Given the description of an element on the screen output the (x, y) to click on. 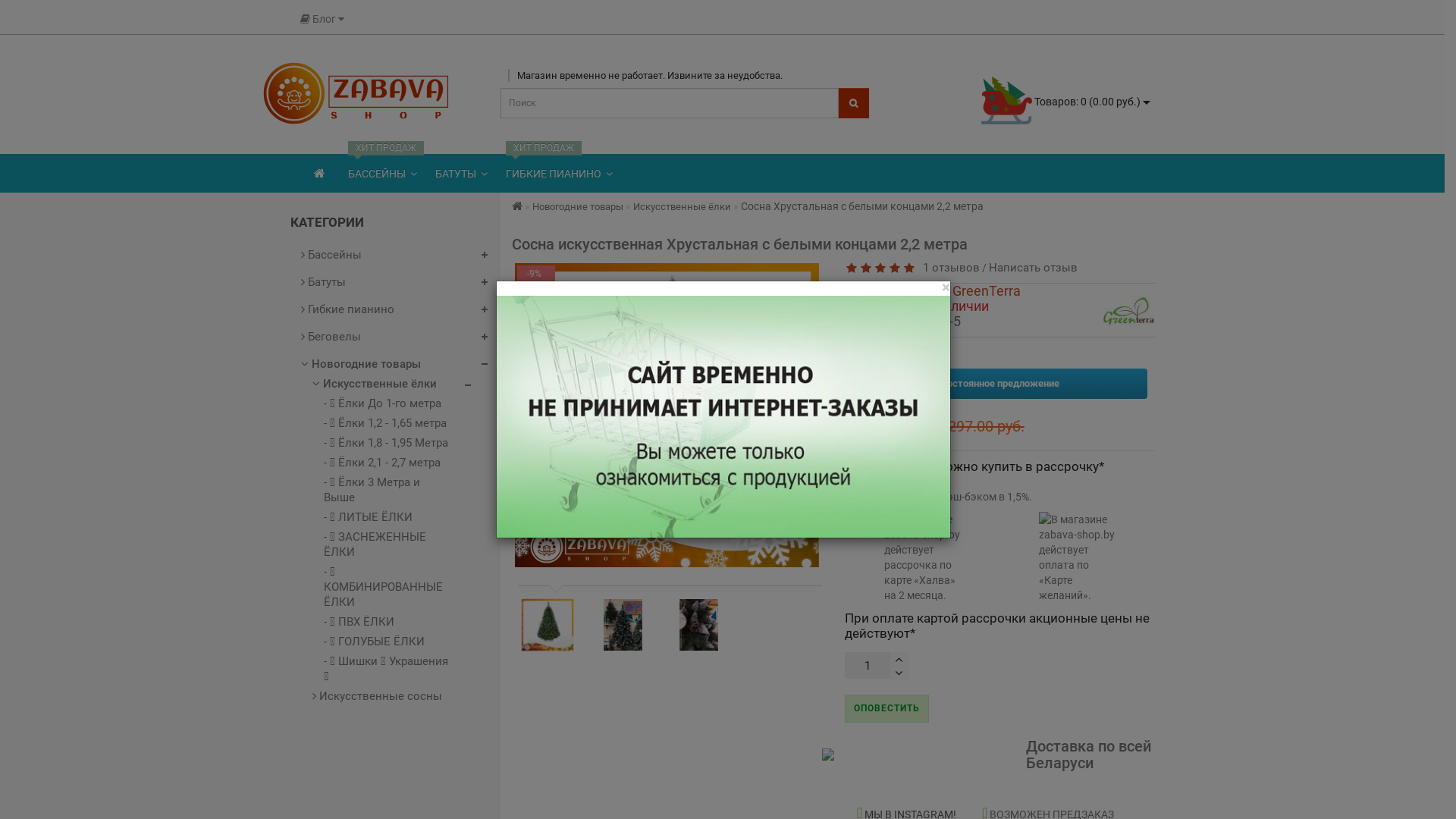
  Element type: text (899, 672)
GreenTerra Element type: text (986, 290)
cart Element type: hover (1006, 100)
  Element type: text (899, 658)
GreenTerra Element type: hover (1127, 309)
zabava-shop.by Element type: hover (355, 96)
